Given the description of an element on the screen output the (x, y) to click on. 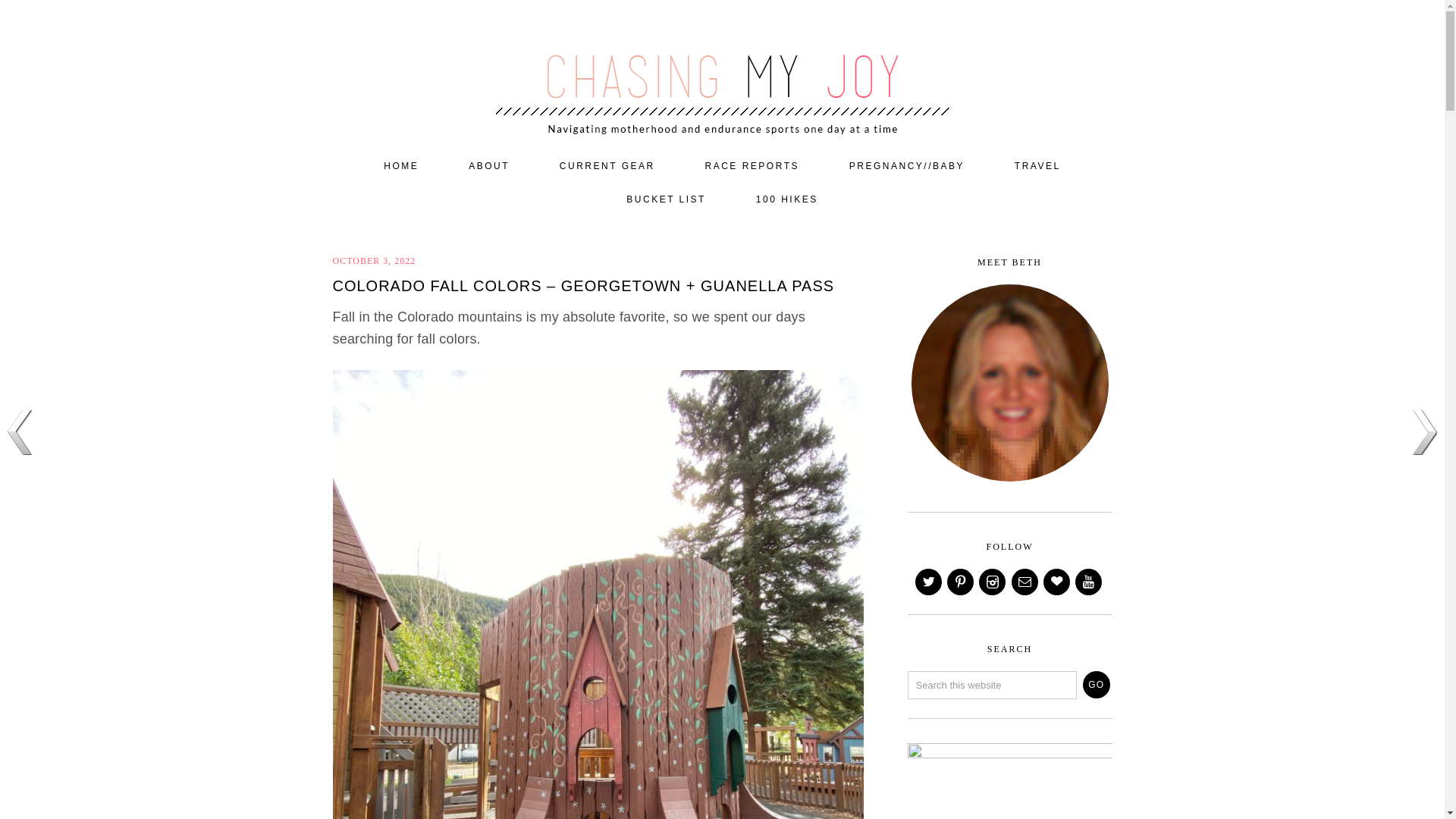
HOME (401, 166)
TRAVEL (1037, 166)
Bloglovin (1057, 582)
Youtube (1089, 582)
Twitter (929, 582)
CHASING MY JOY (721, 70)
BUCKET LIST (666, 200)
Pinterest (961, 582)
ABOUT (488, 166)
Email Me (1026, 582)
